Given the description of an element on the screen output the (x, y) to click on. 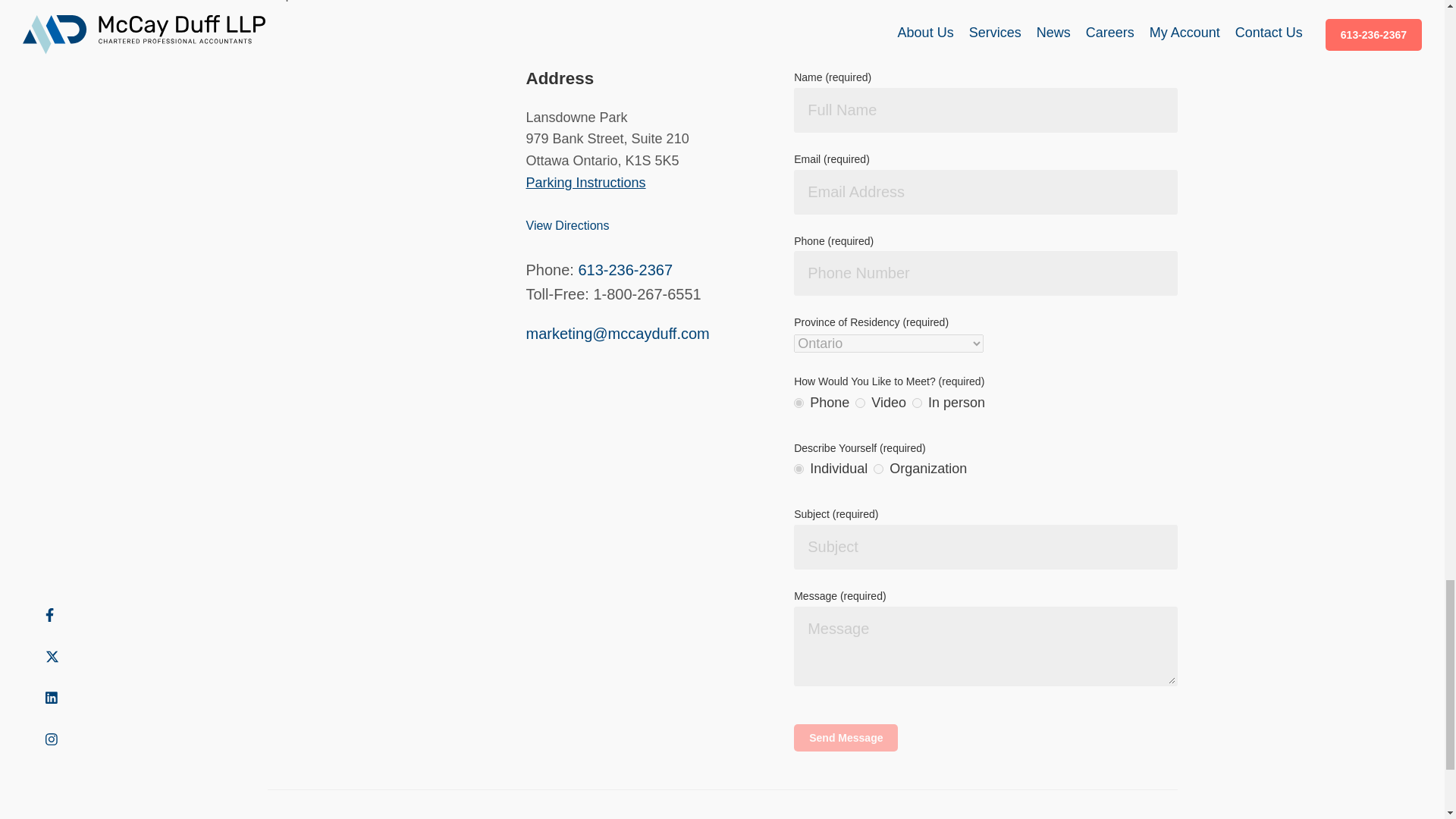
Organization (878, 469)
Send Message (845, 737)
Phone (798, 402)
Video (860, 402)
Individual (798, 469)
In person (916, 402)
